Given the description of an element on the screen output the (x, y) to click on. 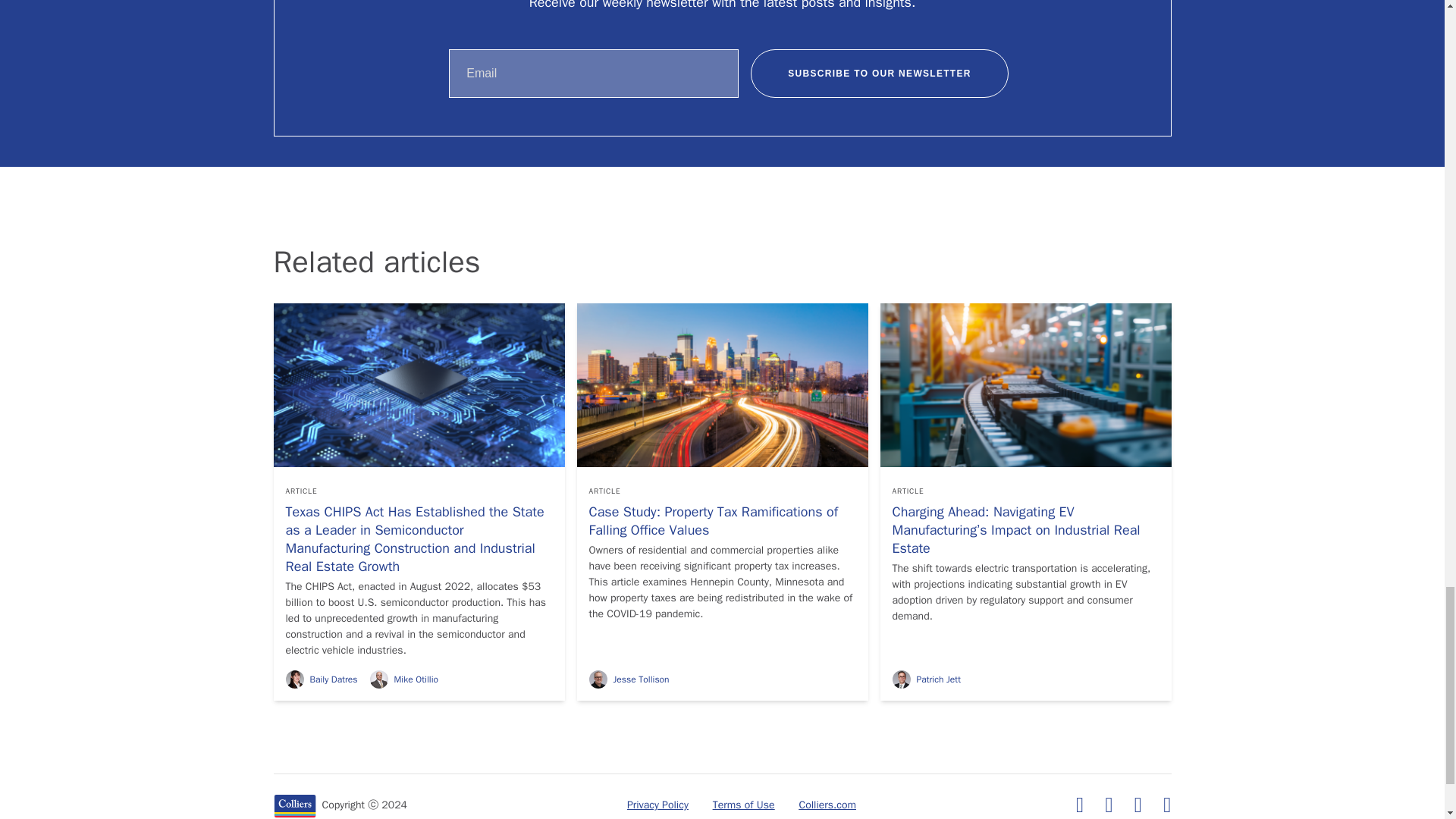
Mike Otillio (403, 679)
Baily Datres (320, 679)
Jesse Tollison (628, 679)
